Given the description of an element on the screen output the (x, y) to click on. 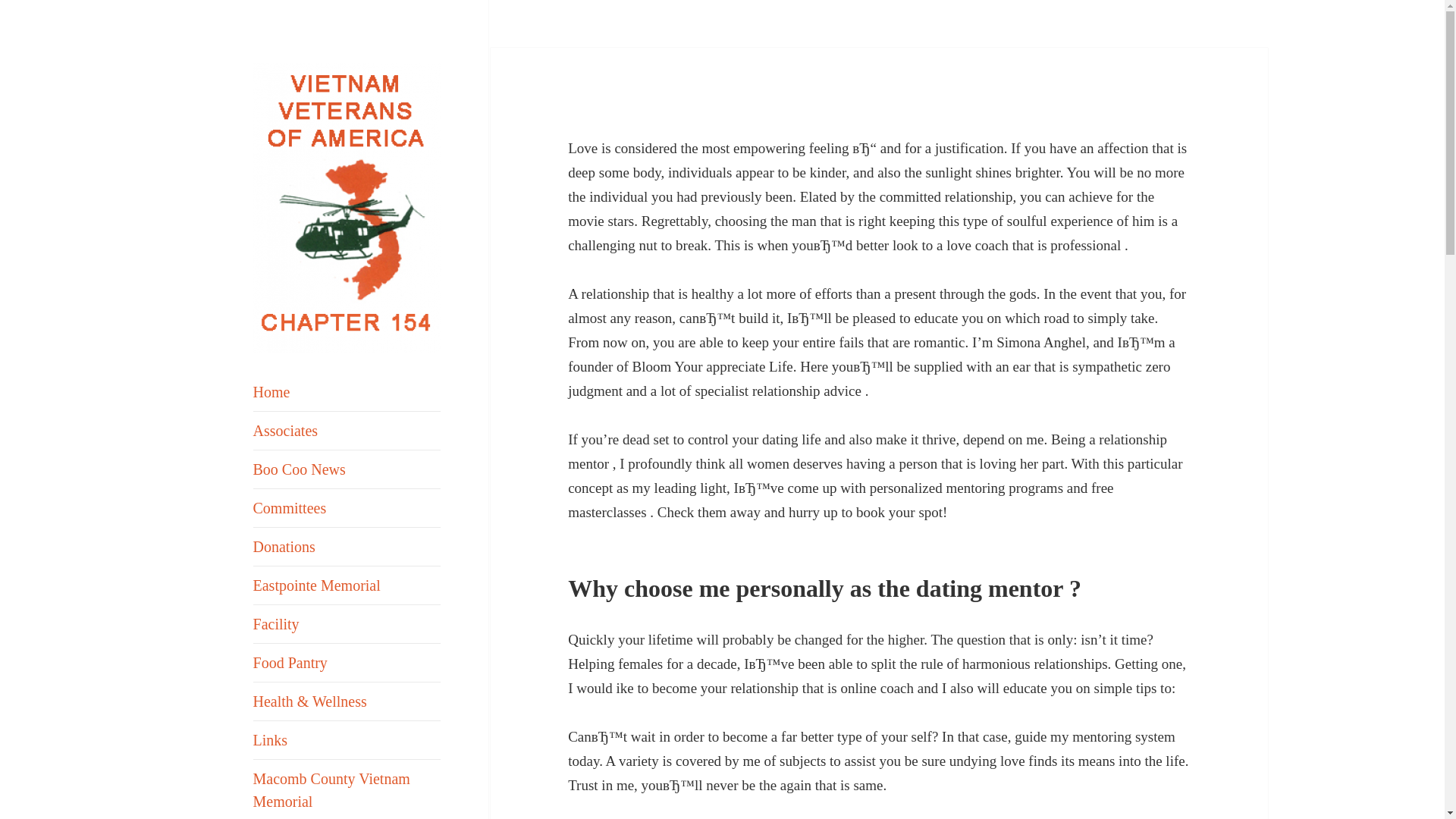
Donations (347, 546)
Eastpointe Memorial (347, 585)
Facility (347, 623)
Vietnam Veterans of America (350, 389)
Committees (347, 507)
Home (347, 392)
Macomb County Vietnam Memorial (347, 789)
Associates (347, 430)
Links (347, 740)
Food Pantry (347, 662)
Boo Coo News (347, 469)
